Given the description of an element on the screen output the (x, y) to click on. 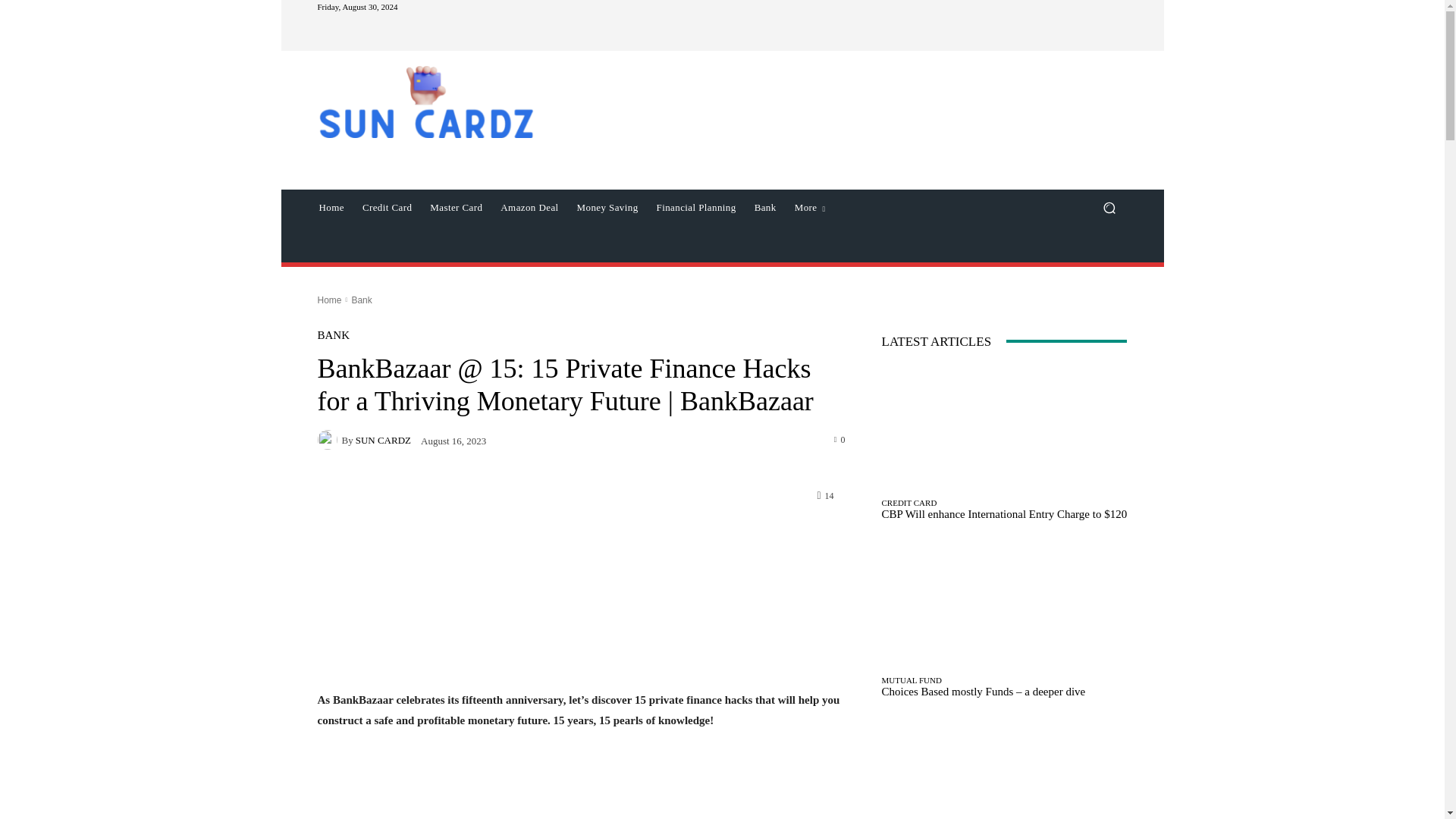
View all posts in Bank (360, 299)
SUN CARDZ (328, 439)
Amazon Deal (529, 207)
Credit Card (386, 207)
Master Card (456, 207)
Bank (765, 207)
Financial Planning (696, 207)
Money Saving (607, 207)
Home (330, 207)
